Given the description of an element on the screen output the (x, y) to click on. 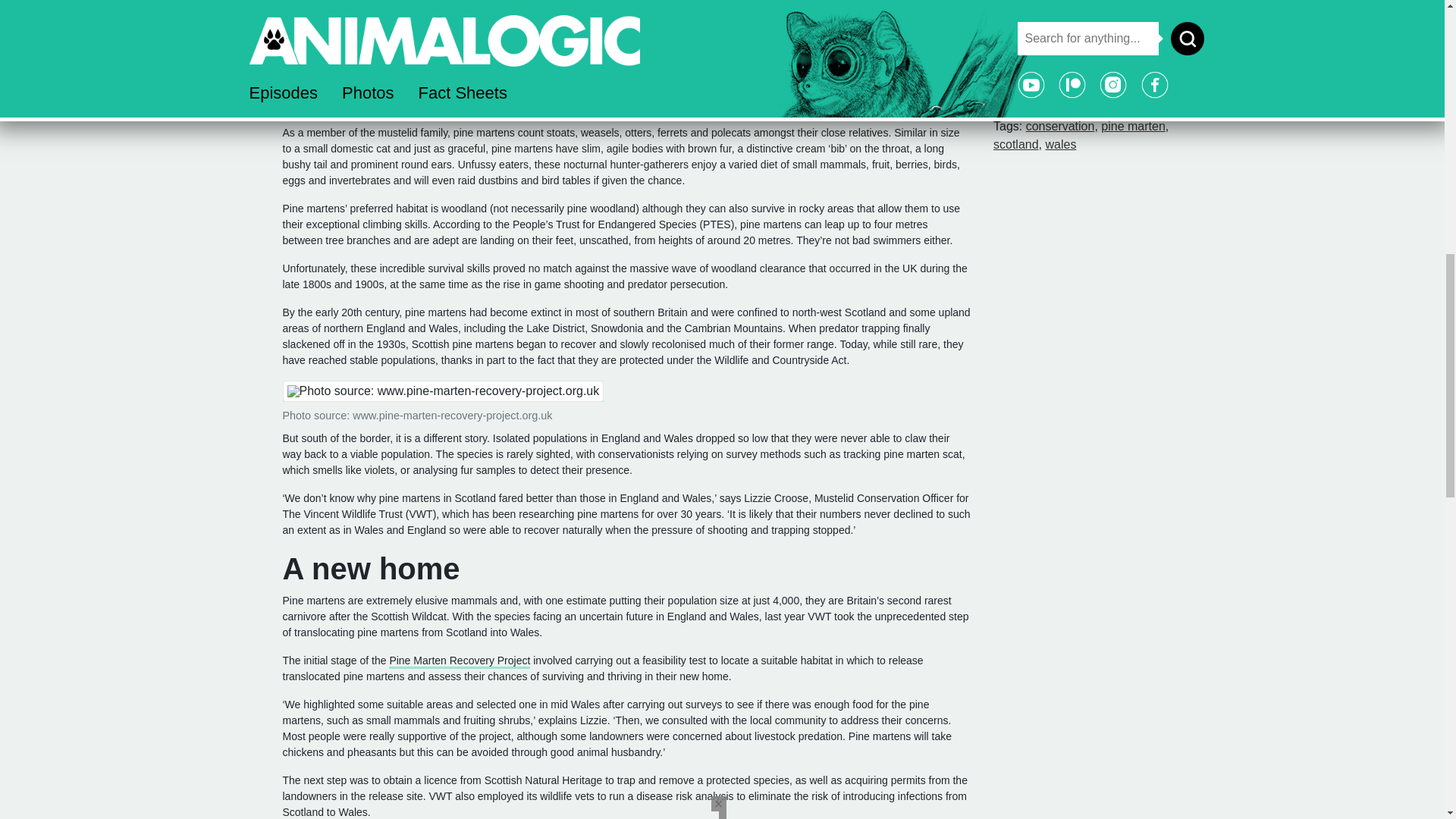
wales (1060, 144)
Black Widow: The Ultimate Goth Girlfriend (1100, 49)
conservation (1060, 125)
pine marten (1133, 125)
scotland (1015, 144)
Pine Marten Recovery Project (458, 661)
